Given the description of an element on the screen output the (x, y) to click on. 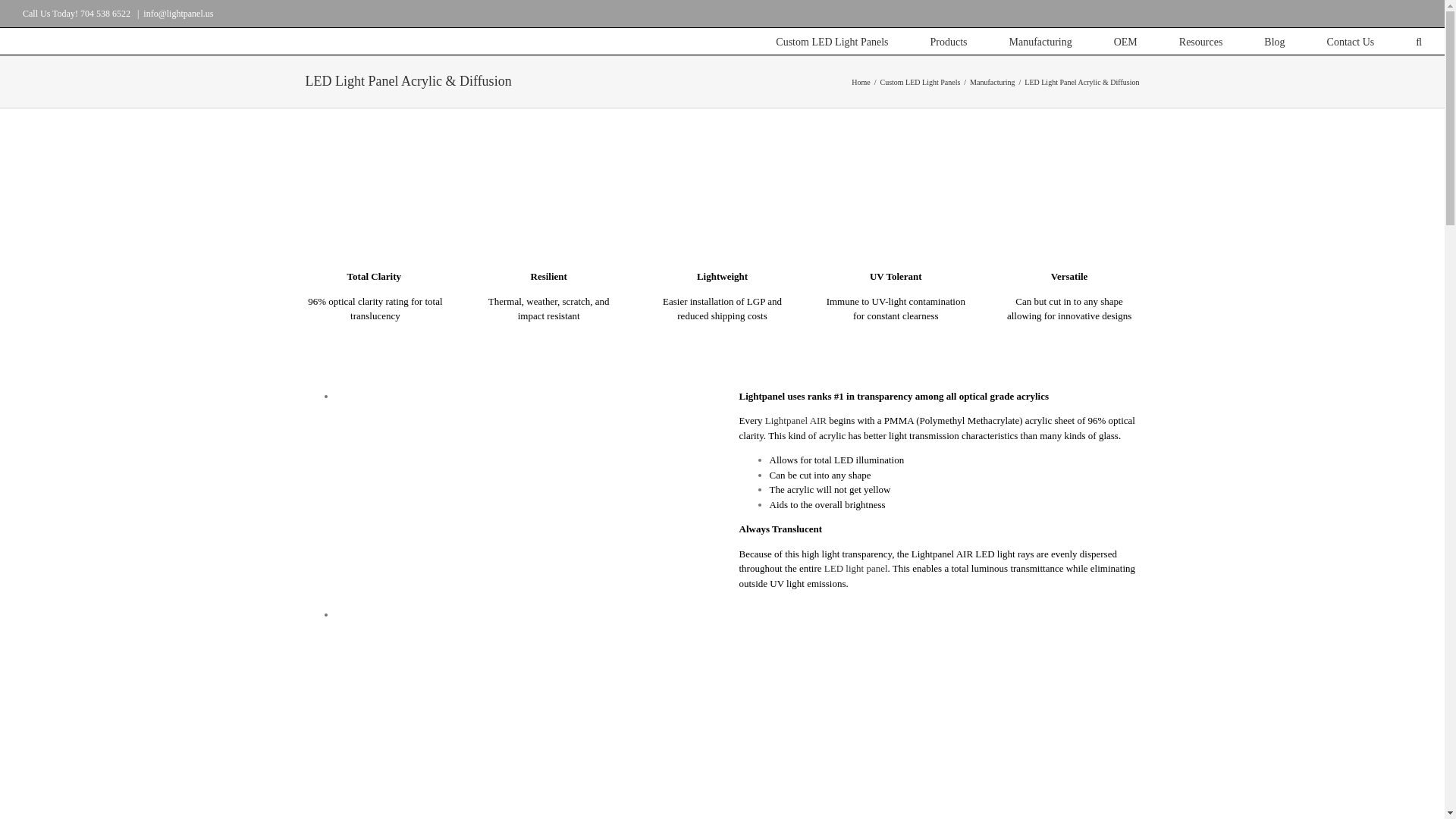
Manufacturing (991, 80)
resillient (513, 204)
uv protection (855, 202)
Search (1418, 40)
lightweight (692, 200)
OEM (1125, 40)
Products (948, 40)
clarity (344, 204)
Manufacturing (1040, 40)
Contact Us (1350, 40)
Custom LED Light Panels (832, 40)
Shape (1038, 203)
Custom LED Light Panels (919, 80)
Resources (1201, 40)
Home (860, 80)
